Given the description of an element on the screen output the (x, y) to click on. 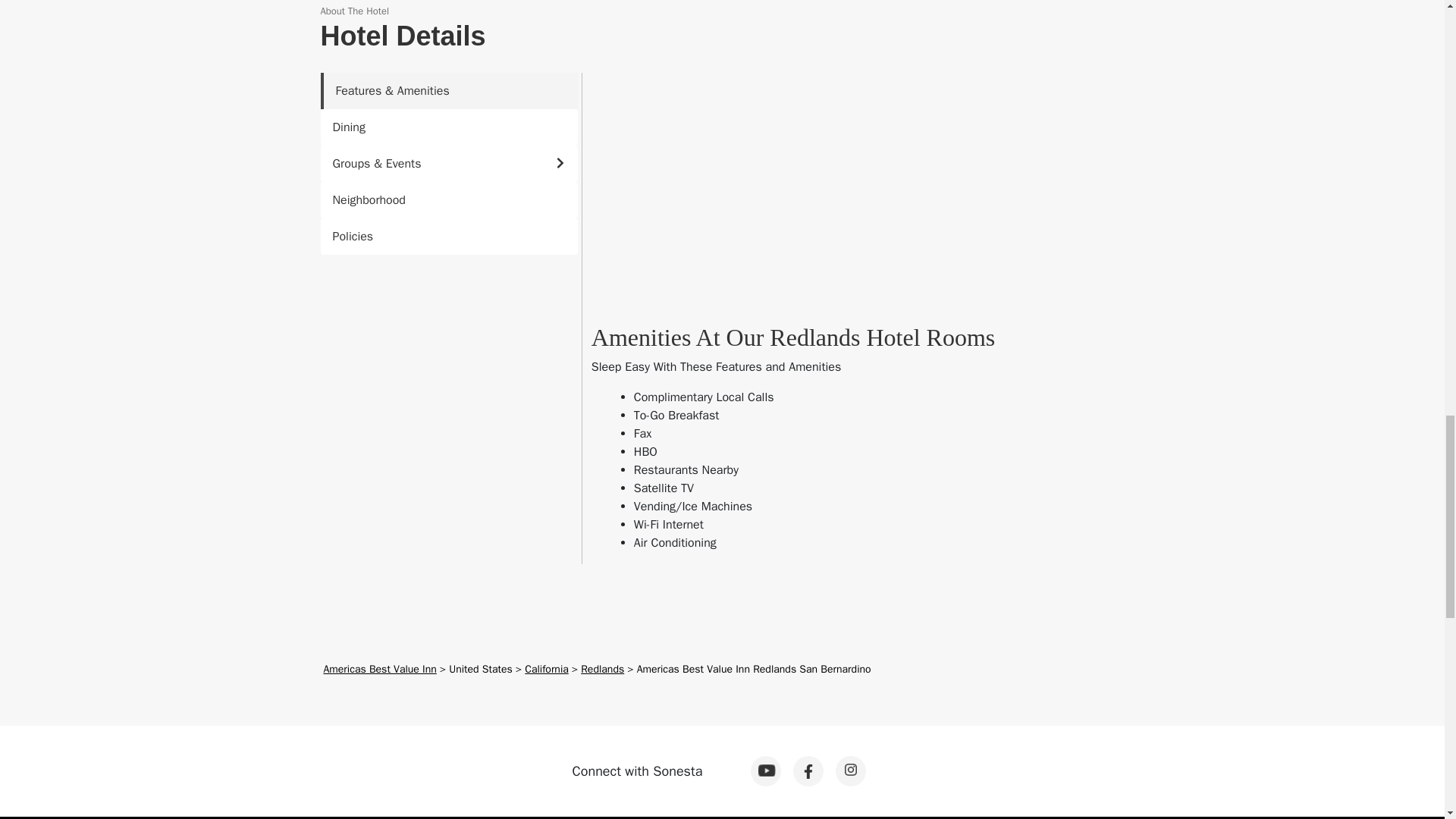
Policies (448, 236)
Dining (448, 126)
California (546, 668)
Americas Best Value Inn (379, 668)
Redlands (602, 668)
Neighborhood (448, 199)
